Given the description of an element on the screen output the (x, y) to click on. 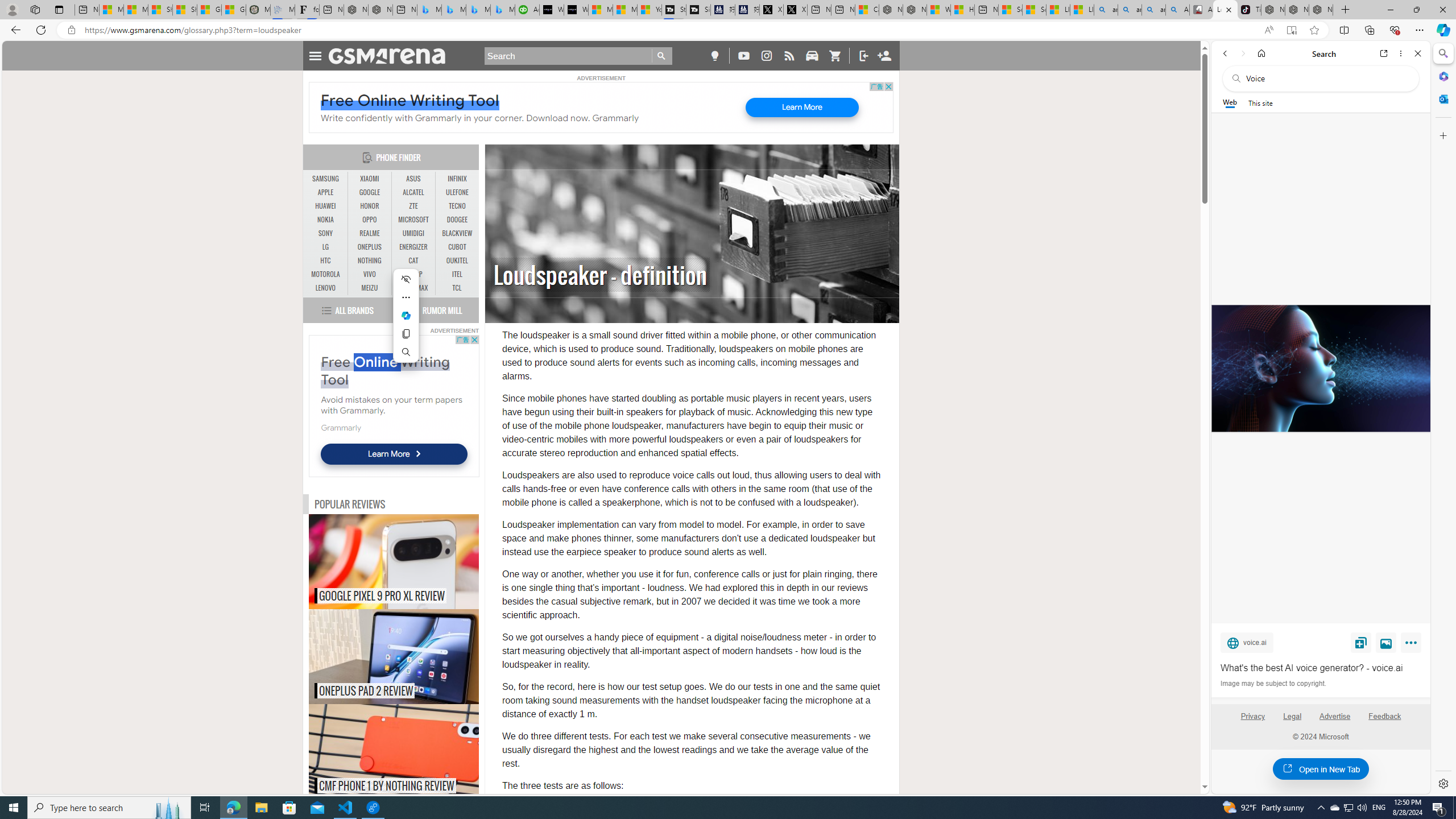
MICROMAX (413, 287)
Save (1361, 642)
CMF Phone 1 by Nothing review CMF PHONE 1 BY NOTHING REVIEW (393, 751)
ENERGIZER (413, 246)
More options (1401, 53)
X (795, 9)
Google Pixel 9 Pro XL review (417, 561)
ALCATEL (413, 192)
REALME (369, 233)
OnePlus Pad 2 review (417, 656)
Gilma and Hector both pose tropical trouble for Hawaii (233, 9)
Nordace - Siena Pro 15 Essential Set (1321, 9)
